Given the description of an element on the screen output the (x, y) to click on. 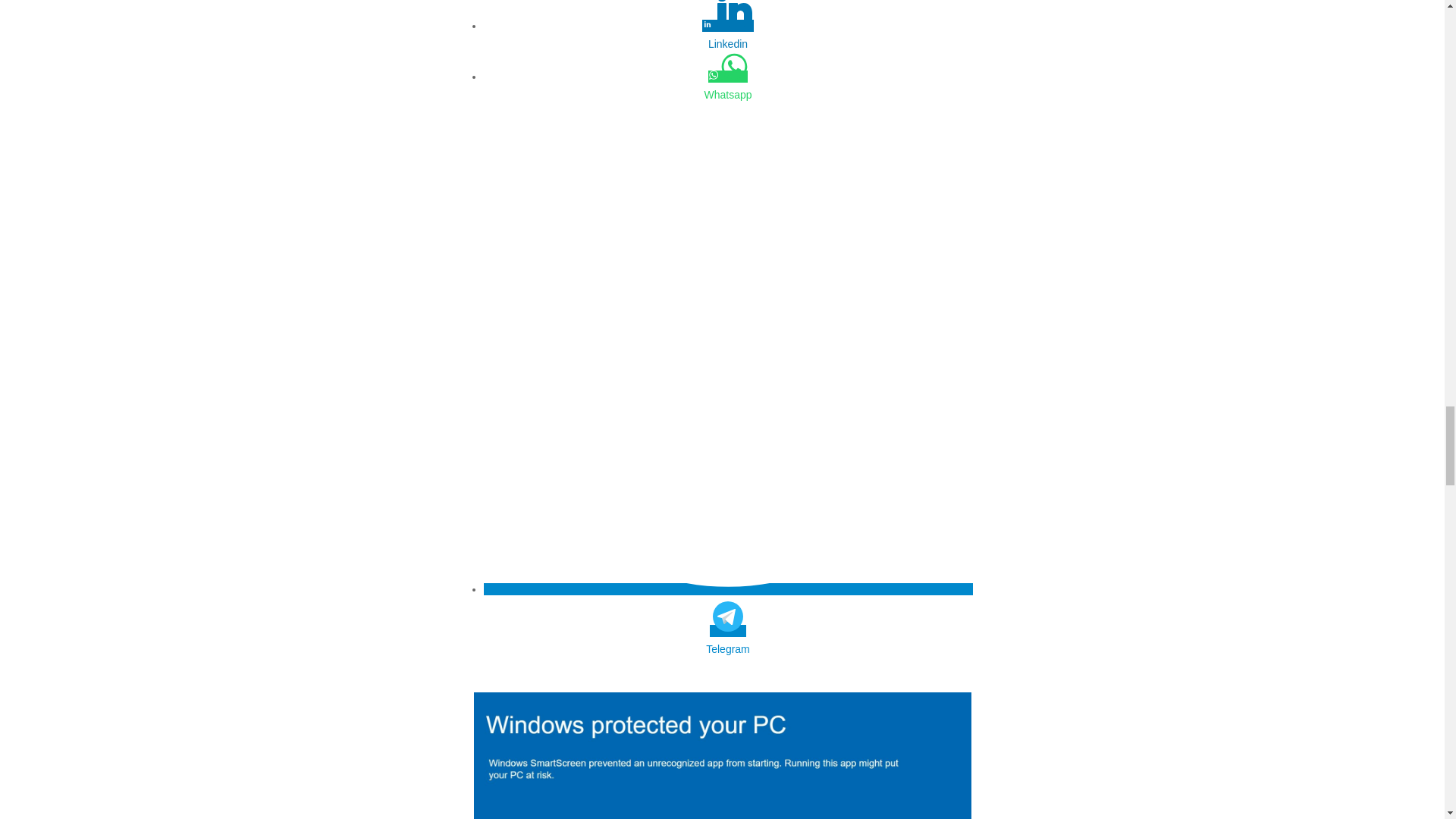
Whatsapp (727, 94)
Linkedin (727, 44)
Telegram (727, 648)
